Given the description of an element on the screen output the (x, y) to click on. 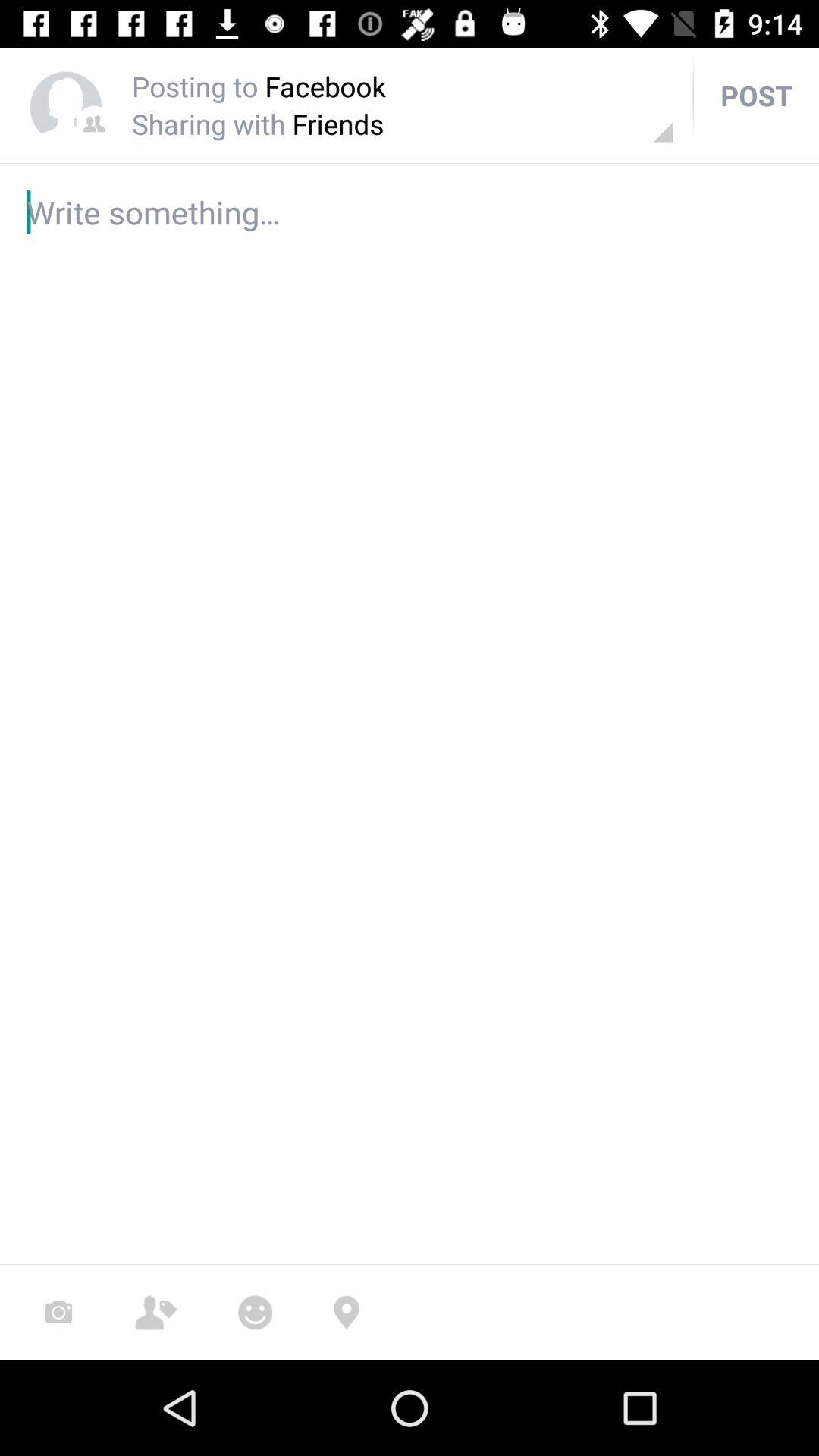
choose post icon (756, 95)
